Given the description of an element on the screen output the (x, y) to click on. 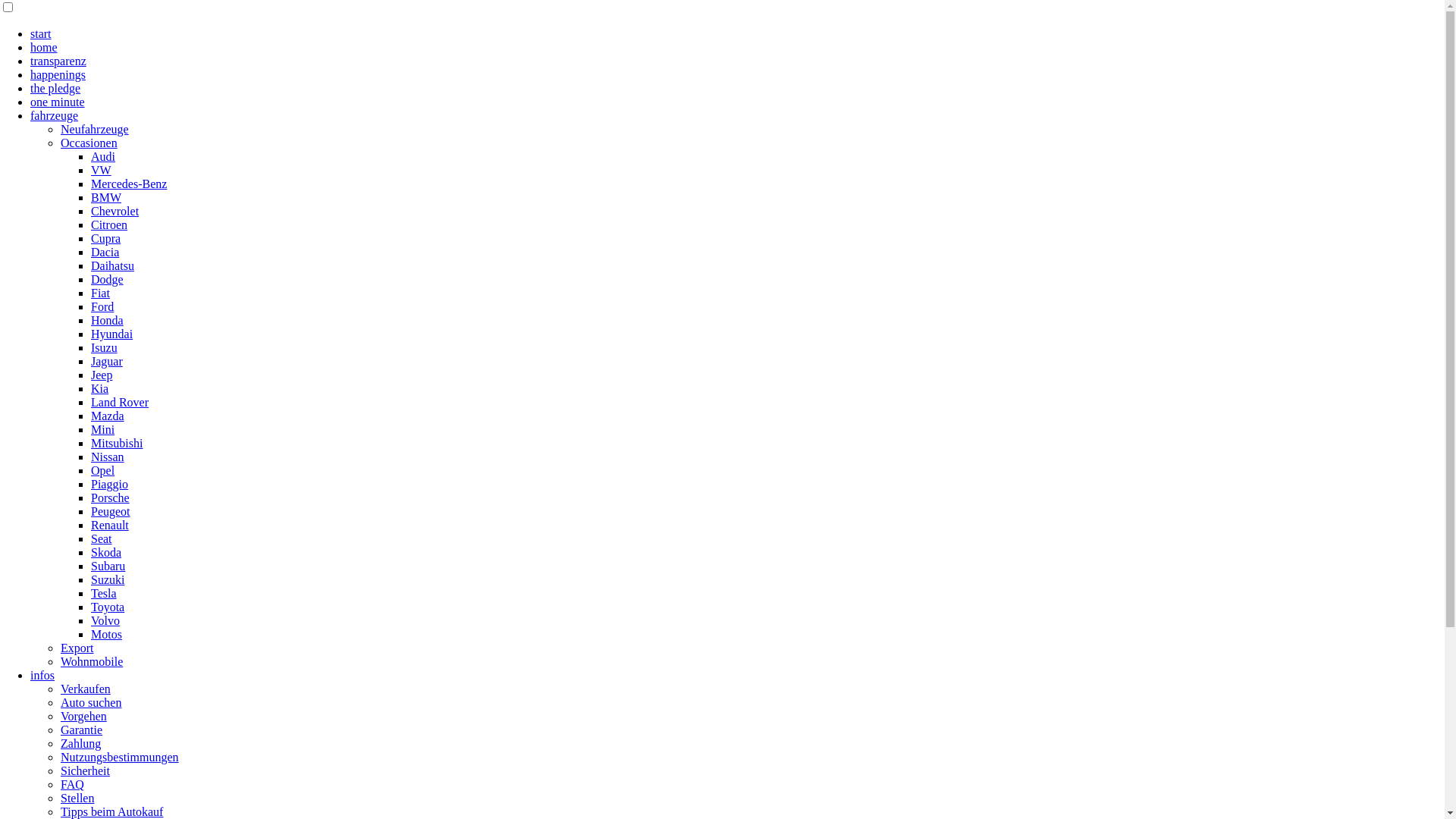
Isuzu Element type: text (104, 347)
Seat Element type: text (101, 538)
Motos Element type: text (106, 633)
transparenz Element type: text (58, 60)
Kia Element type: text (99, 388)
FAQ Element type: text (72, 784)
Neufahrzeuge Element type: text (94, 128)
Suzuki Element type: text (107, 579)
Volvo Element type: text (105, 620)
Citroen Element type: text (109, 224)
Cupra Element type: text (105, 238)
Skoda Element type: text (106, 552)
BMW Element type: text (106, 197)
Stellen Element type: text (77, 797)
start Element type: text (40, 33)
Tipps beim Autokauf Element type: text (111, 811)
Dodge Element type: text (107, 279)
Renault Element type: text (109, 524)
Vorgehen Element type: text (83, 715)
Nissan Element type: text (107, 456)
infos Element type: text (42, 674)
Toyota Element type: text (107, 606)
Export Element type: text (77, 647)
Chevrolet Element type: text (114, 210)
Subaru Element type: text (108, 565)
Honda Element type: text (107, 319)
Opel Element type: text (102, 470)
home Element type: text (43, 46)
Jaguar Element type: text (106, 360)
the pledge Element type: text (55, 87)
one minute Element type: text (57, 101)
Peugeot Element type: text (110, 511)
Ford Element type: text (102, 306)
Sicherheit Element type: text (84, 770)
Land Rover Element type: text (119, 401)
Mini Element type: text (102, 429)
Wohnmobile Element type: text (91, 661)
Jeep Element type: text (101, 374)
Mercedes-Benz Element type: text (128, 183)
Hyundai Element type: text (111, 333)
Daihatsu Element type: text (112, 265)
Verkaufen Element type: text (85, 688)
Garantie Element type: text (81, 729)
Zahlung Element type: text (80, 743)
Dacia Element type: text (105, 251)
Porsche Element type: text (110, 497)
fahrzeuge Element type: text (54, 115)
Nutzungsbestimmungen Element type: text (119, 756)
Mitsubishi Element type: text (116, 442)
Occasionen Element type: text (88, 142)
Fiat Element type: text (100, 292)
Audi Element type: text (103, 156)
Auto suchen Element type: text (90, 702)
VW Element type: text (101, 169)
Piaggio Element type: text (109, 483)
Tesla Element type: text (103, 592)
Mazda Element type: text (107, 415)
happenings Element type: text (57, 74)
